Given the description of an element on the screen output the (x, y) to click on. 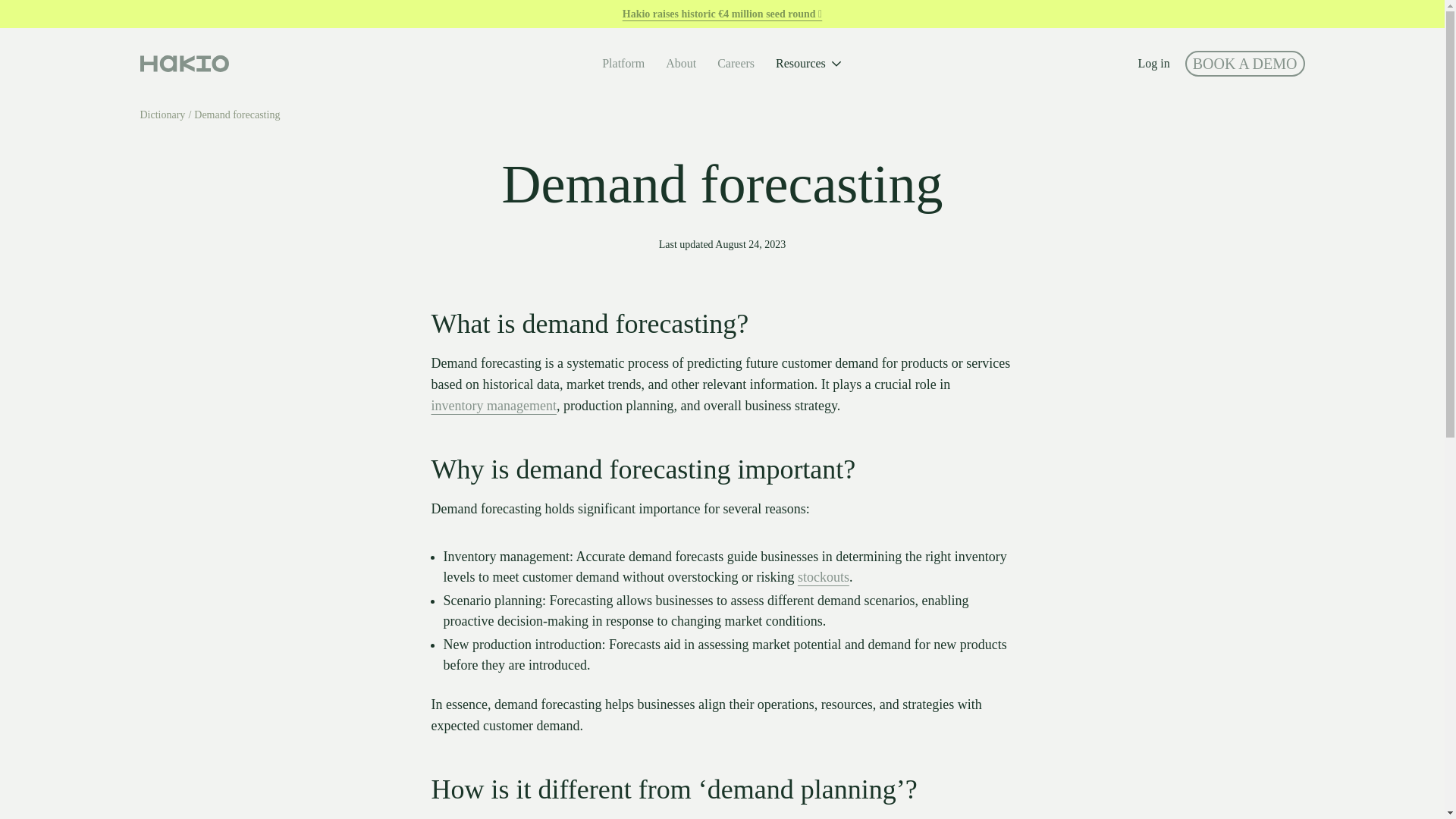
inventory management (493, 405)
Platform (622, 63)
inventory management (493, 405)
stockouts (822, 577)
Resources (809, 63)
BOOK A DEMO (1244, 63)
About (680, 63)
Log in (1152, 63)
Dictionary (161, 114)
Demand forecasting (236, 114)
stockouts (822, 576)
Careers (735, 63)
